Given the description of an element on the screen output the (x, y) to click on. 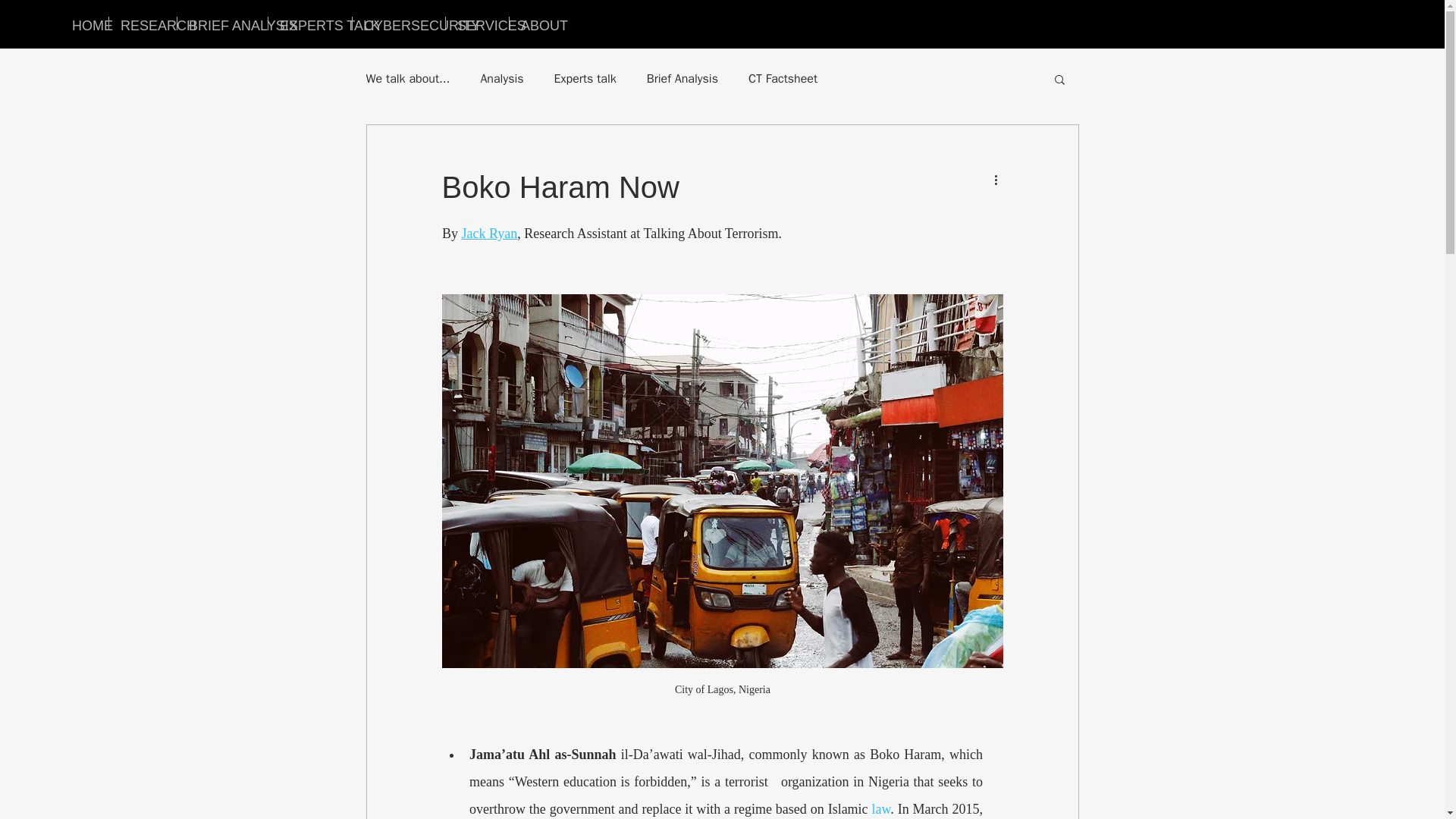
Analysis (501, 78)
We talk about... (407, 78)
HOME (84, 23)
law (879, 808)
EXPERTS TALK (309, 23)
Jack Ryan (488, 233)
RESEARCH (142, 23)
ABOUT (535, 23)
SERVICES (476, 23)
Experts talk (584, 78)
